Given the description of an element on the screen output the (x, y) to click on. 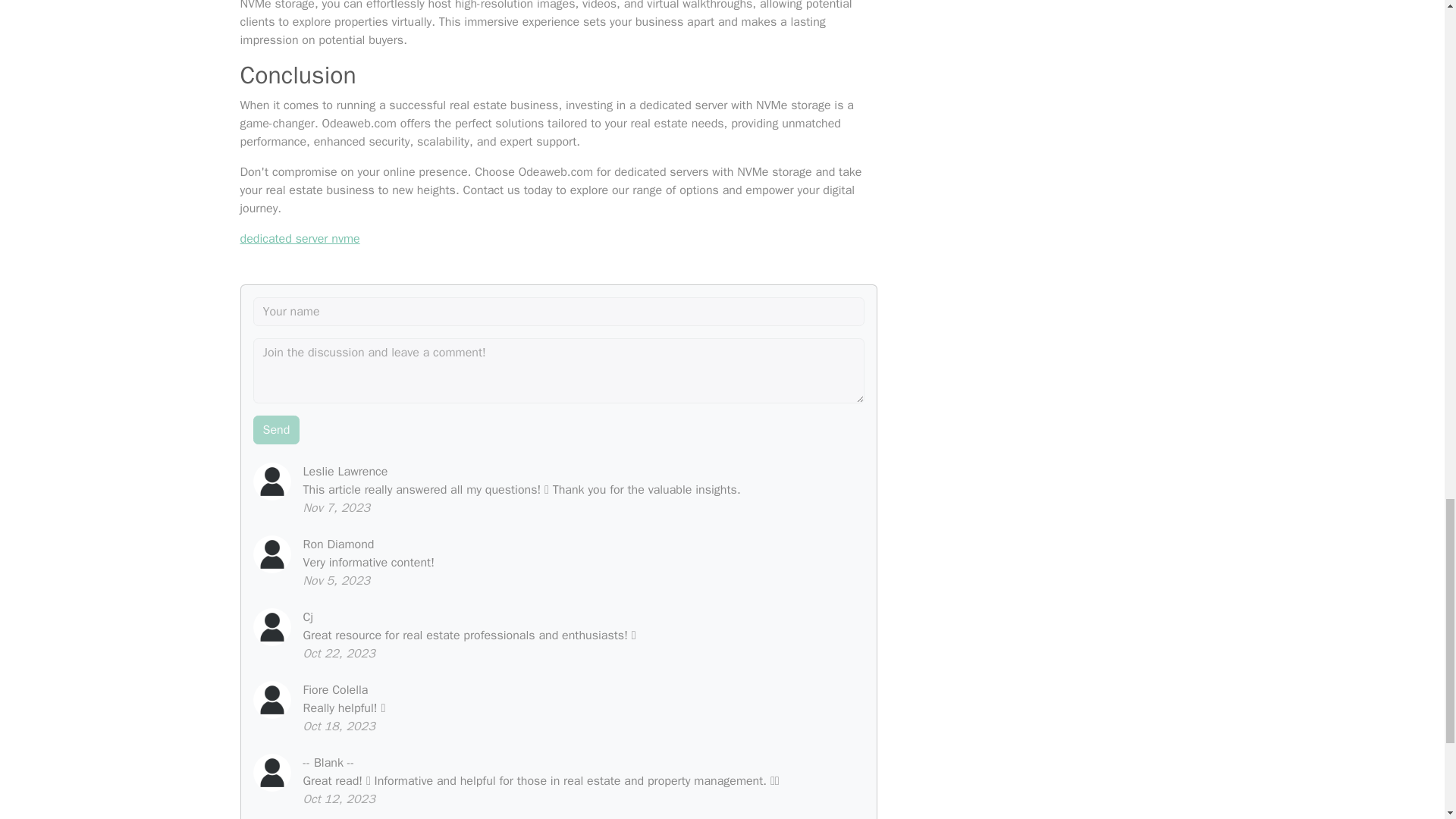
dedicated server nvme (299, 238)
Send (276, 429)
Send (276, 429)
